Given the description of an element on the screen output the (x, y) to click on. 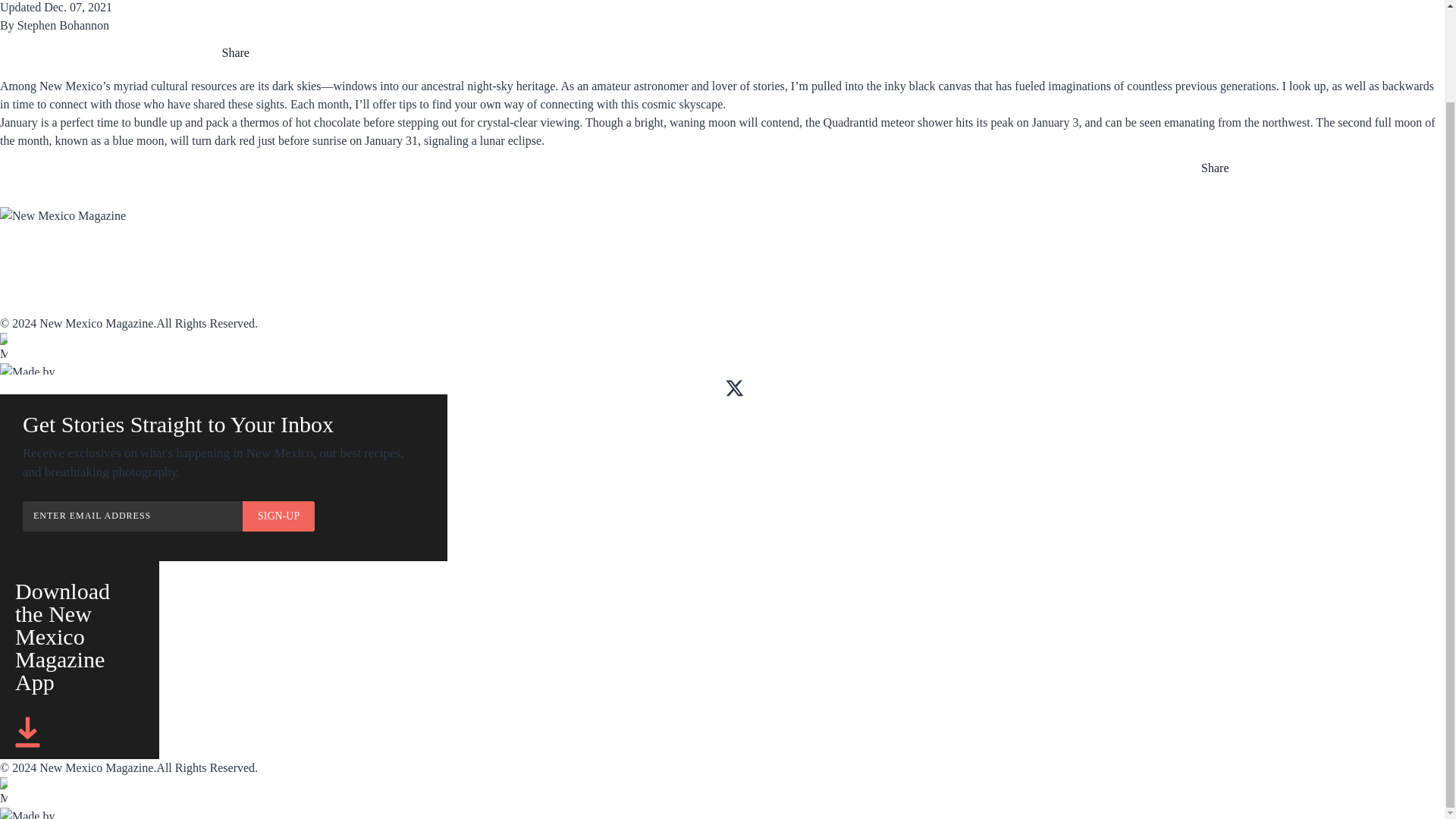
Sitemap (312, 287)
Contact Us (32, 304)
App (154, 254)
Privacy Policy (333, 304)
Archive (313, 254)
Visit our Twitter page (734, 388)
About Us (25, 287)
Subscribe (28, 254)
Advertise (464, 254)
Store (598, 254)
